Given the description of an element on the screen output the (x, y) to click on. 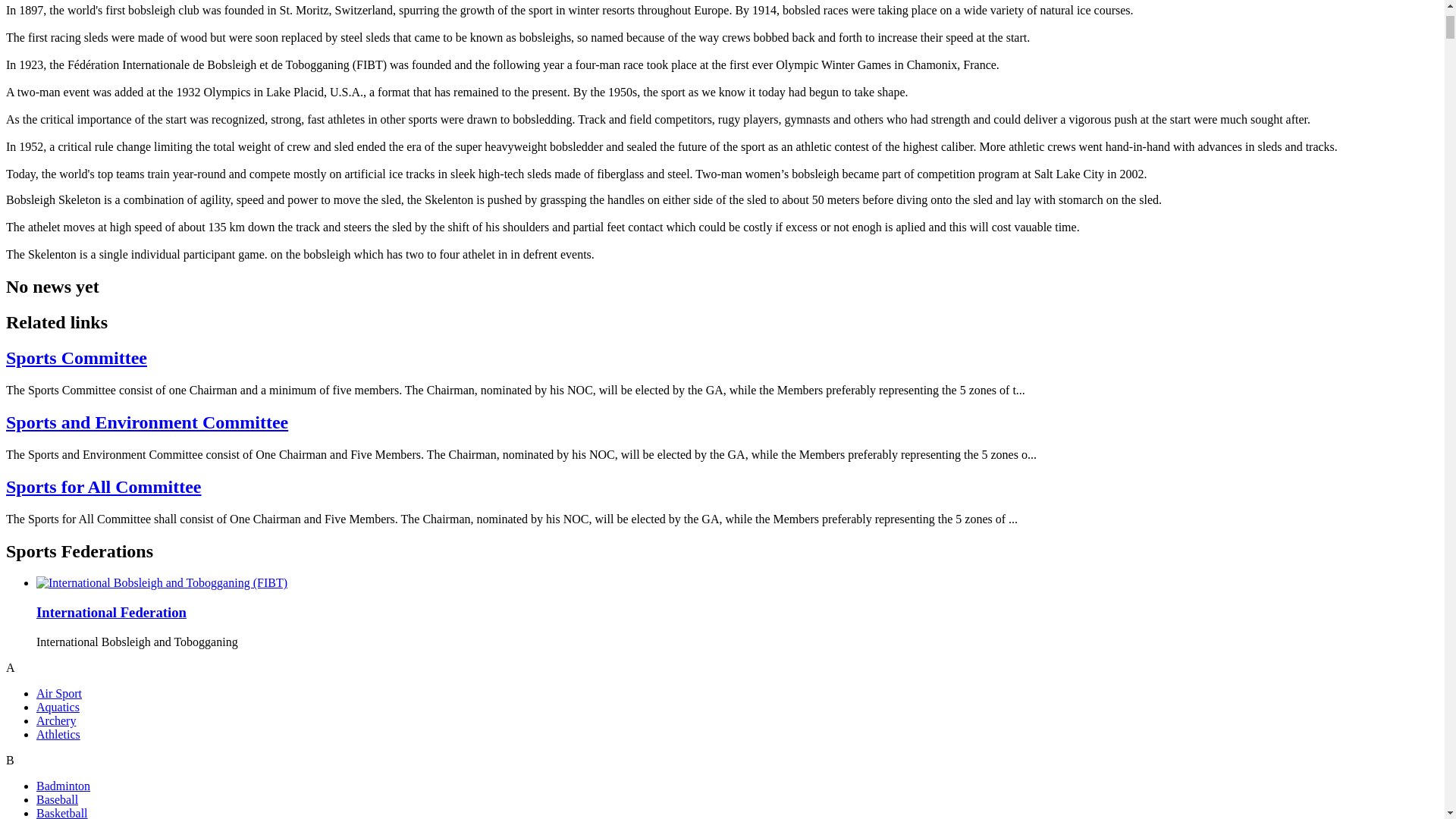
International Federation (111, 611)
Sports for All Committee (103, 486)
Basketball (61, 812)
Aquatics (58, 707)
Baseball (57, 799)
Athletics (58, 734)
Badminton (63, 785)
Air Sport (58, 693)
Sports Committee (76, 357)
Archery (55, 720)
Sports and Environment Committee (146, 422)
